Given the description of an element on the screen output the (x, y) to click on. 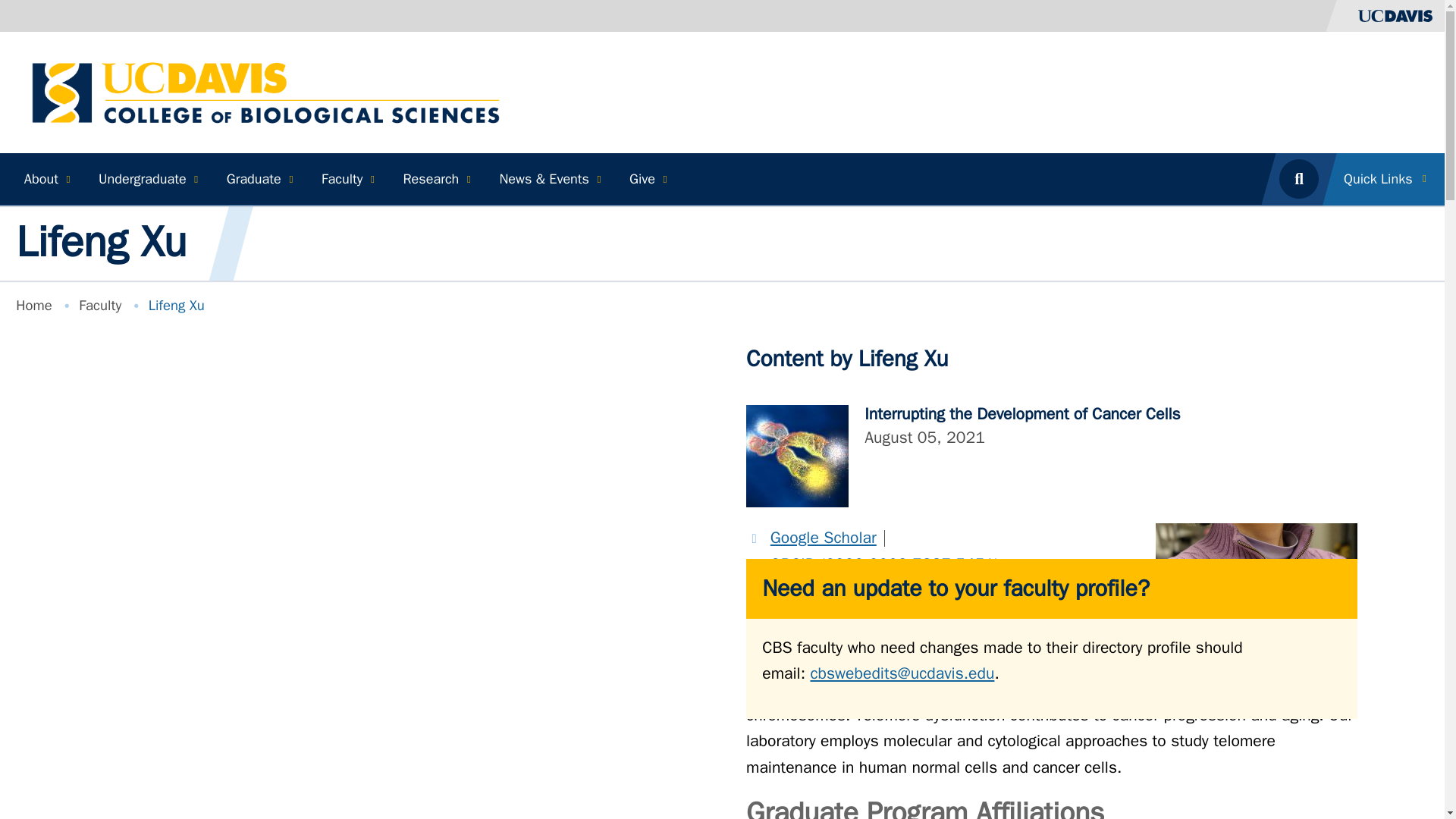
About (45, 179)
Home (265, 91)
Thursday, August 5, 2021 - 9:34am (924, 436)
